Given the description of an element on the screen output the (x, y) to click on. 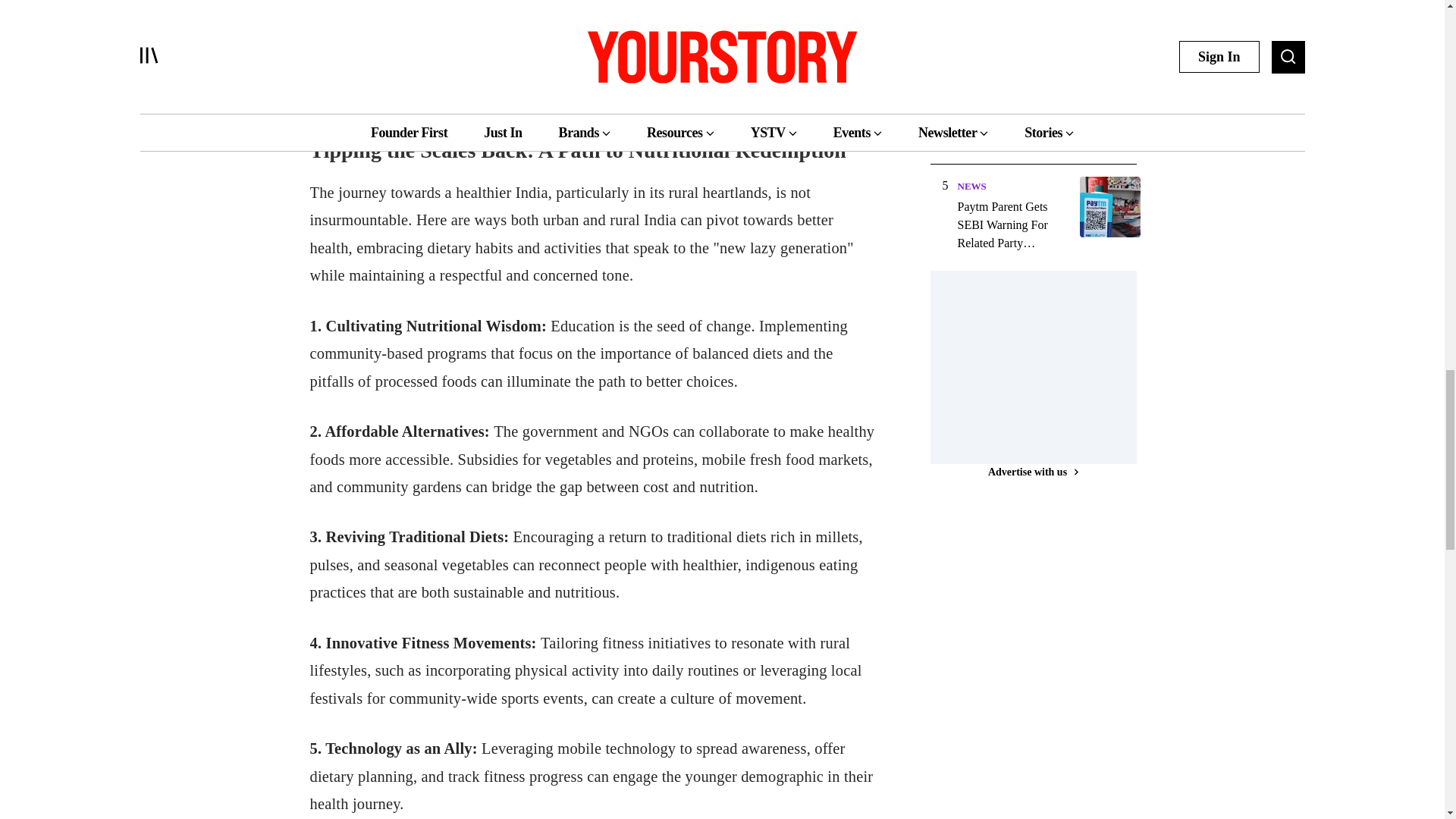
3rd party ad content (1043, 365)
Advertise with us (1032, 471)
NEWS (970, 185)
AI GEN (973, 79)
3rd party ad content (1043, 655)
